Given the description of an element on the screen output the (x, y) to click on. 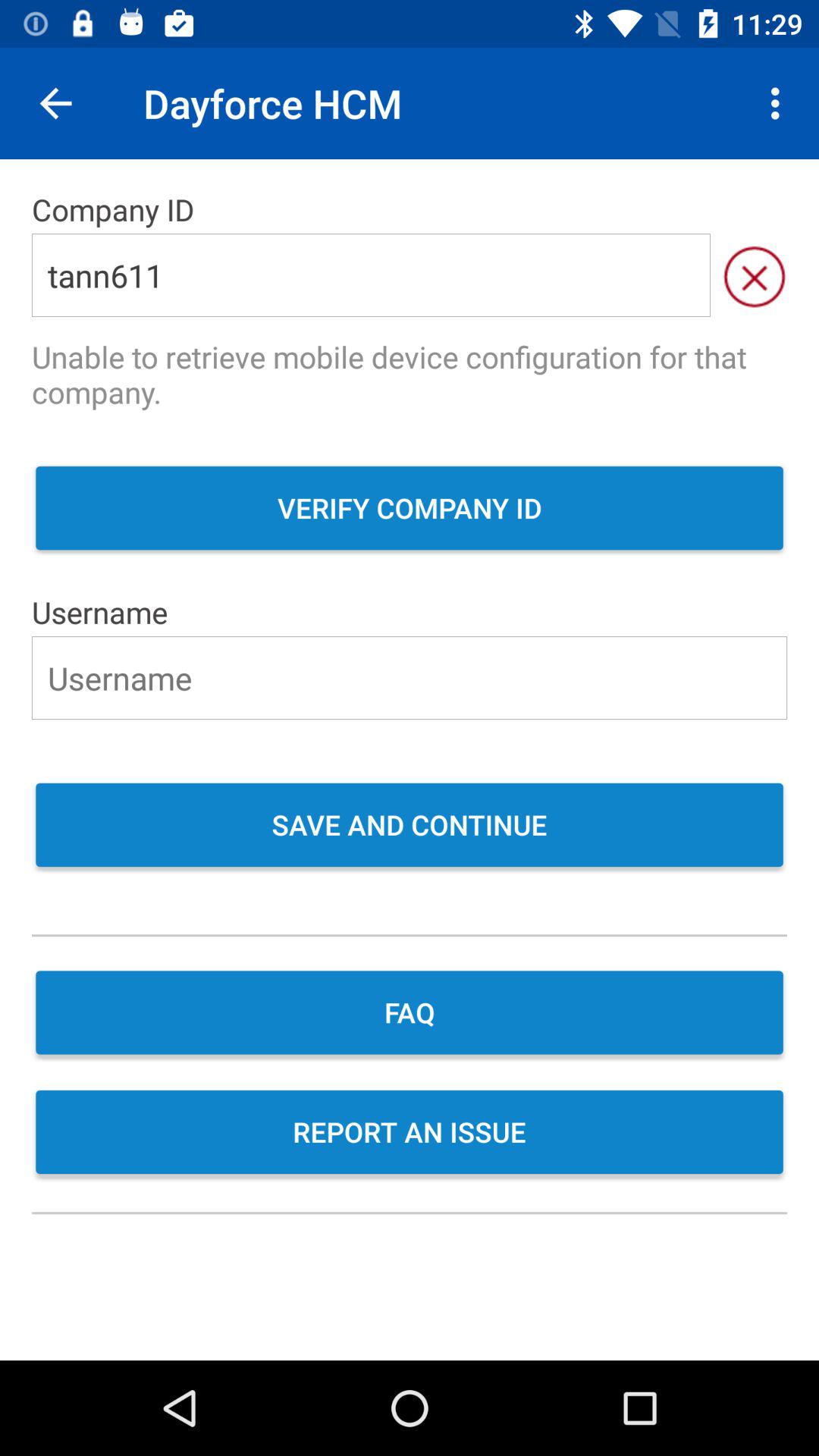
select item above the company id item (779, 103)
